Given the description of an element on the screen output the (x, y) to click on. 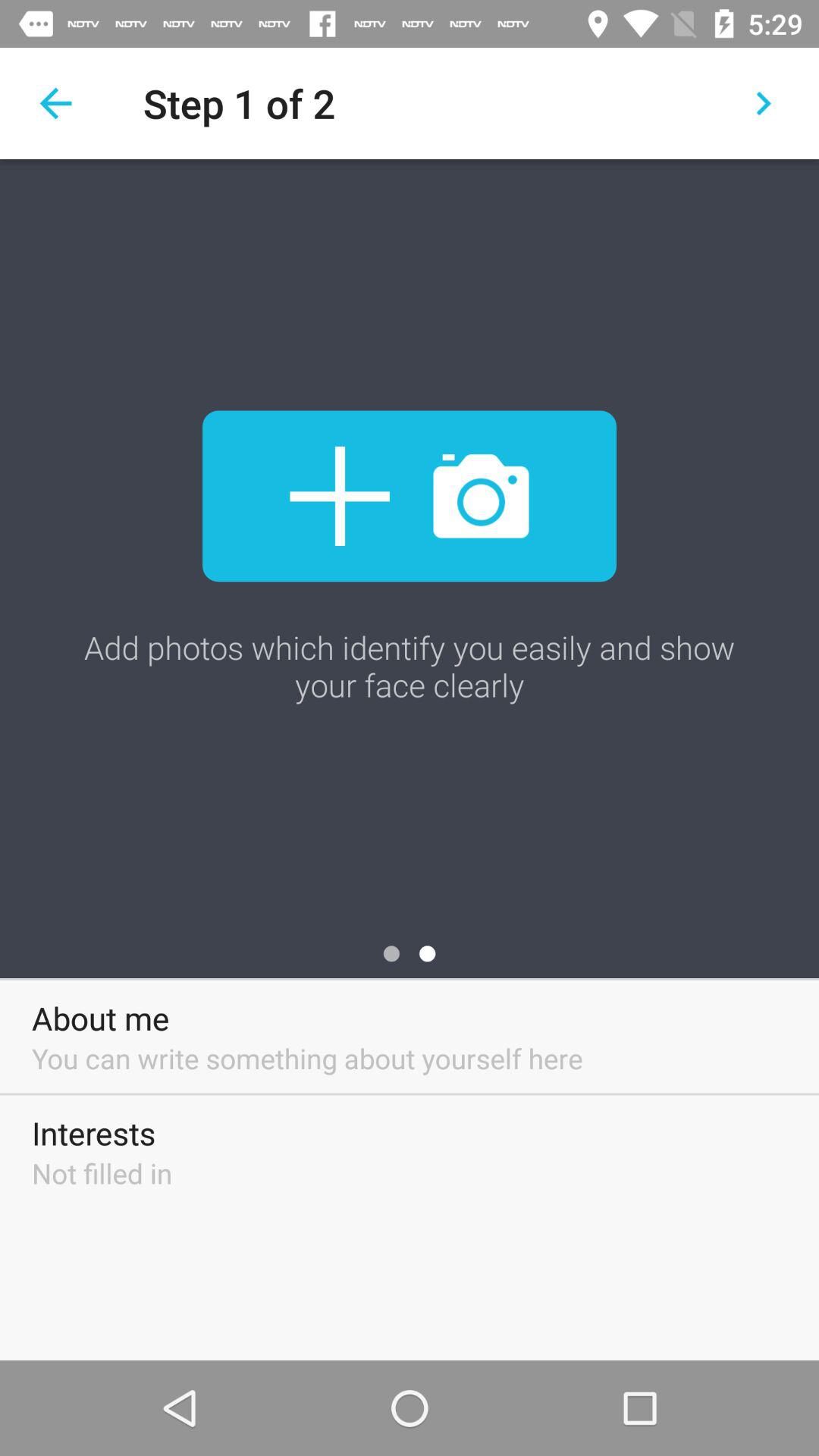
turn off the item above add photos which (55, 103)
